Given the description of an element on the screen output the (x, y) to click on. 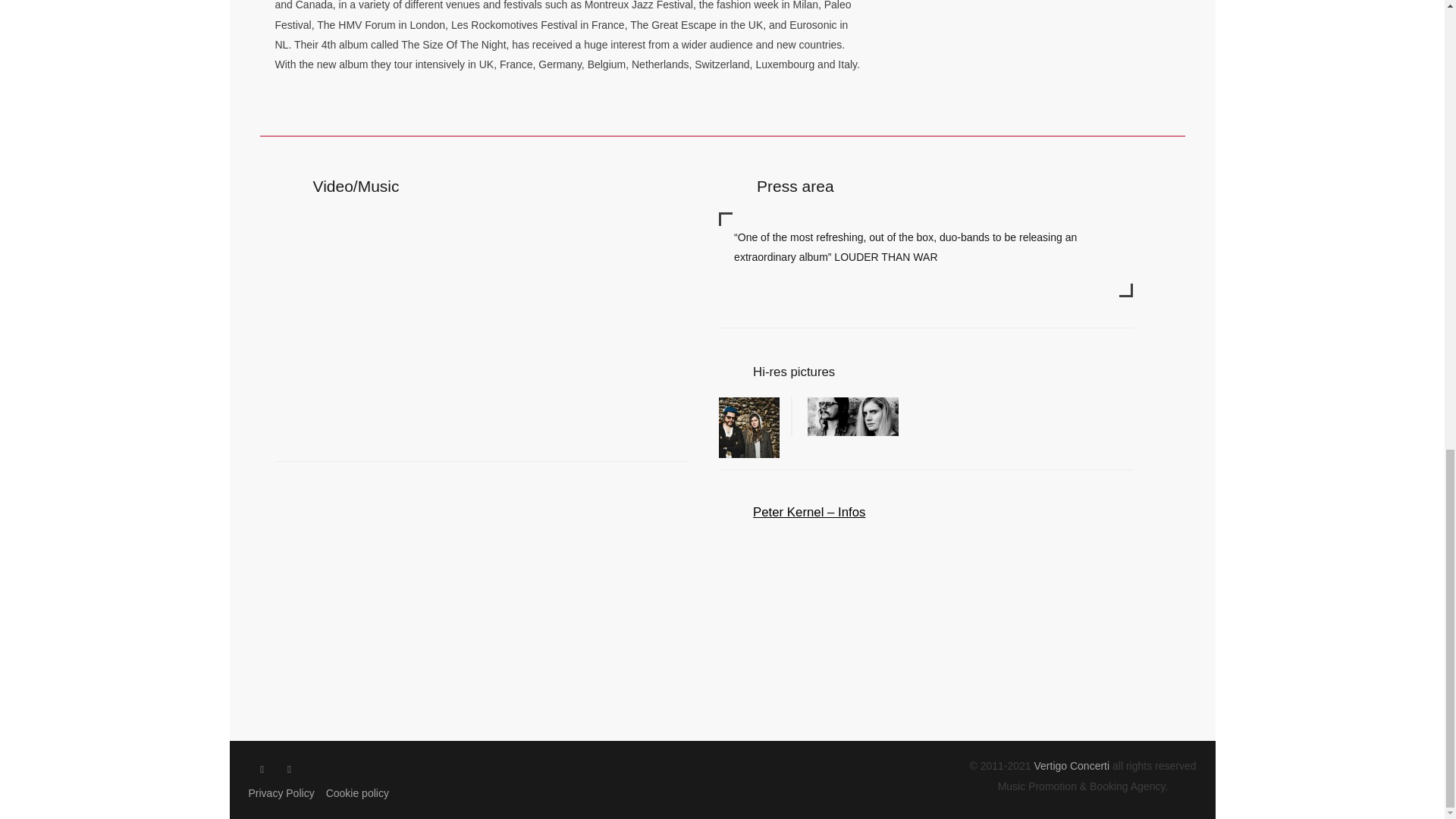
Cookie policy (357, 793)
Peter Kernel (748, 427)
Instagram (289, 768)
Facebook (262, 768)
Peter Kernel (844, 416)
Privacy Policy (281, 793)
Vertigo Concerti (1071, 766)
